Given the description of an element on the screen output the (x, y) to click on. 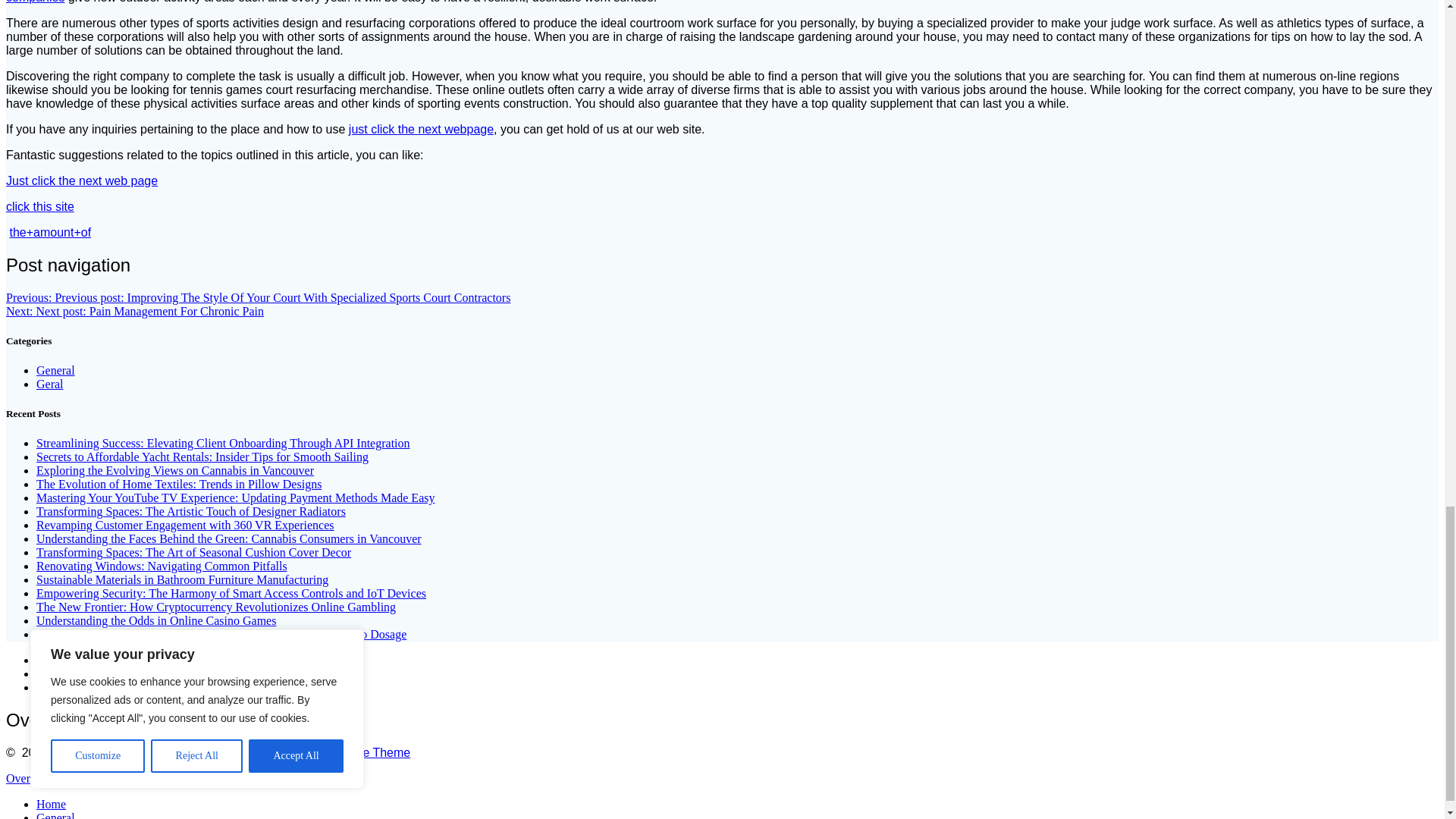
The Evolution of Home Textiles: Trends in Pillow Designs (178, 483)
Exploring the Evolving Views on Cannabis in Vancouver (175, 470)
Revamping Customer Engagement with 360 VR Experiences (185, 524)
Geral (50, 383)
just click the next webpage (421, 128)
